Given the description of an element on the screen output the (x, y) to click on. 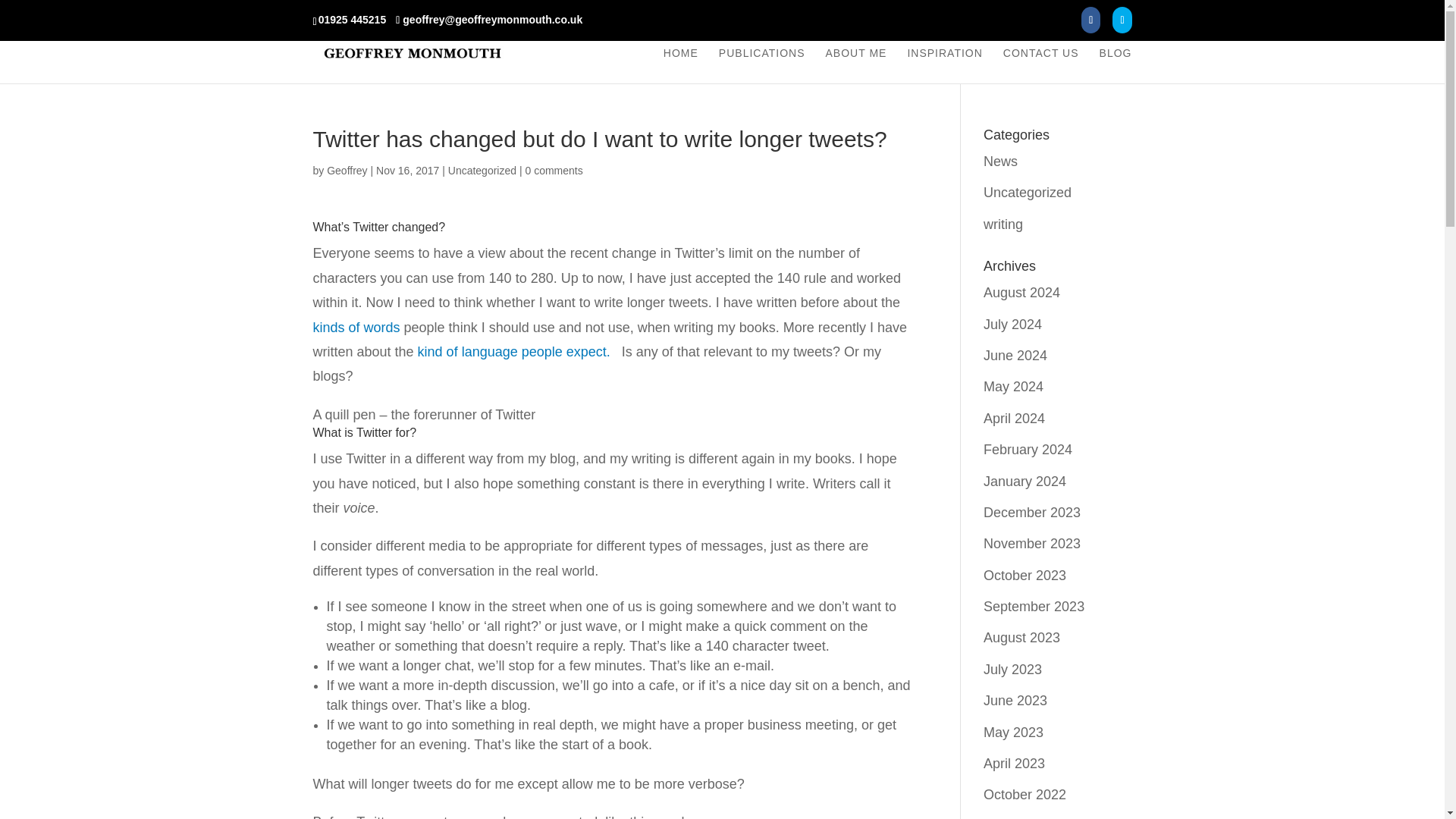
April 2024 (1014, 418)
February 2024 (1027, 449)
October 2022 (1024, 794)
kinds of words (355, 327)
Geoffrey (346, 170)
kind of language people expect.    (519, 351)
June 2024 (1015, 355)
writing (1003, 224)
0 comments (553, 170)
June 2023 (1015, 700)
